Given the description of an element on the screen output the (x, y) to click on. 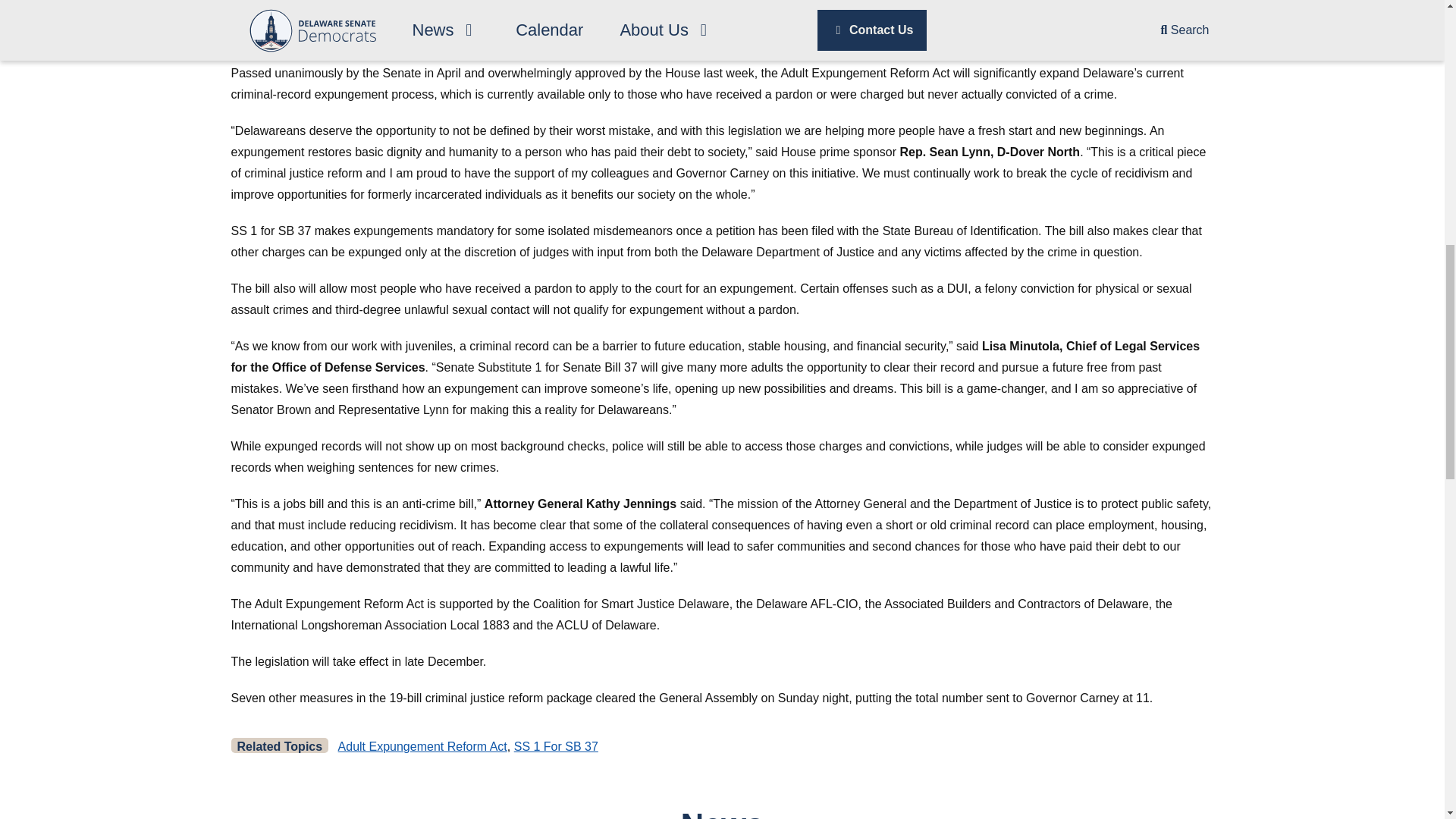
SS 1 For SB 37 (555, 746)
Adult Expungement Reform Act (421, 746)
